Given the description of an element on the screen output the (x, y) to click on. 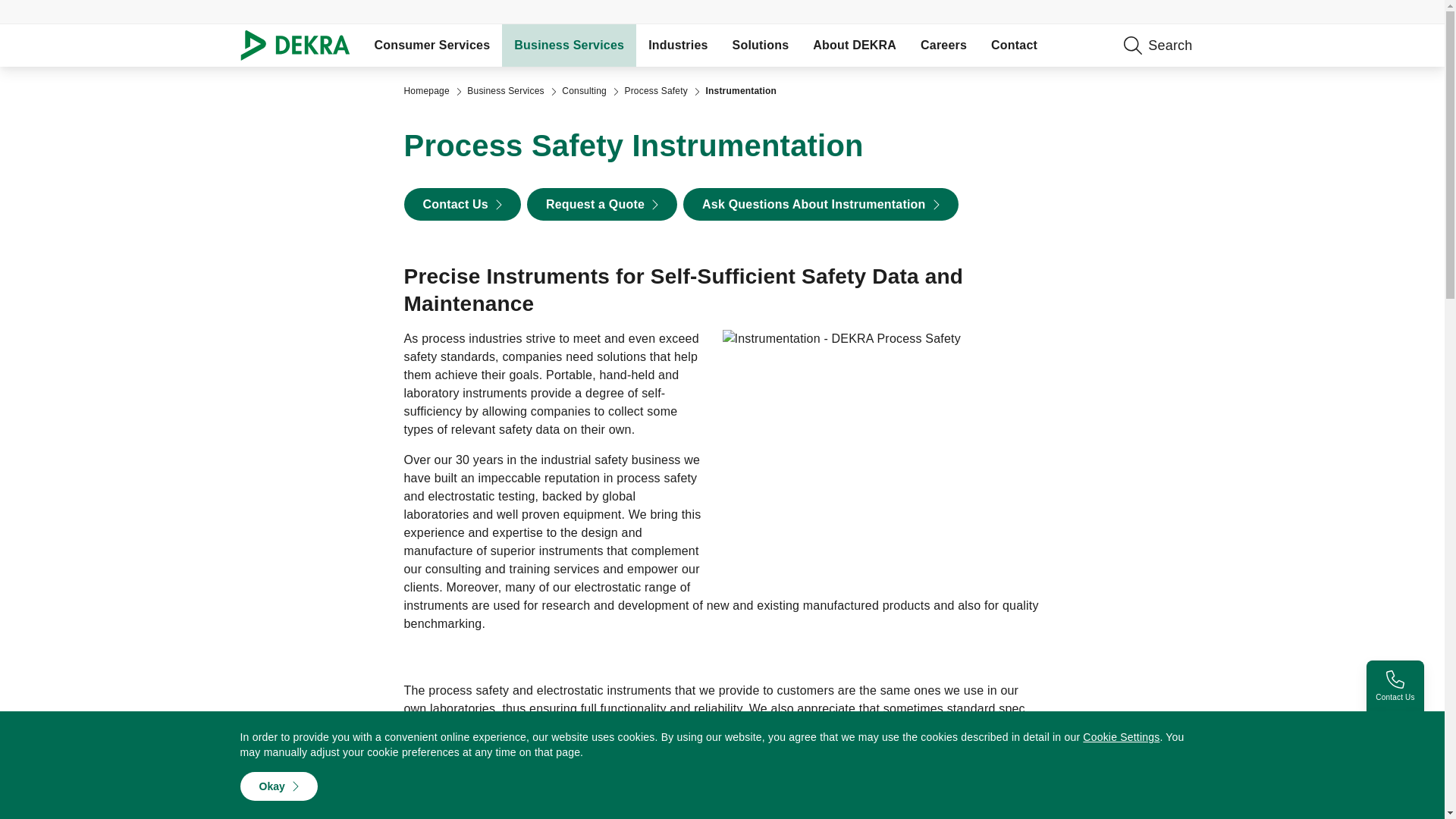
Logo (300, 45)
Process Safety (655, 91)
Have a Process Safety Specalist contact you. (461, 204)
Search (1243, 45)
Cookie Settings (1120, 736)
Homepage (425, 91)
Contact (1013, 45)
Business Services (505, 91)
Careers (943, 45)
Okay (278, 786)
